Given the description of an element on the screen output the (x, y) to click on. 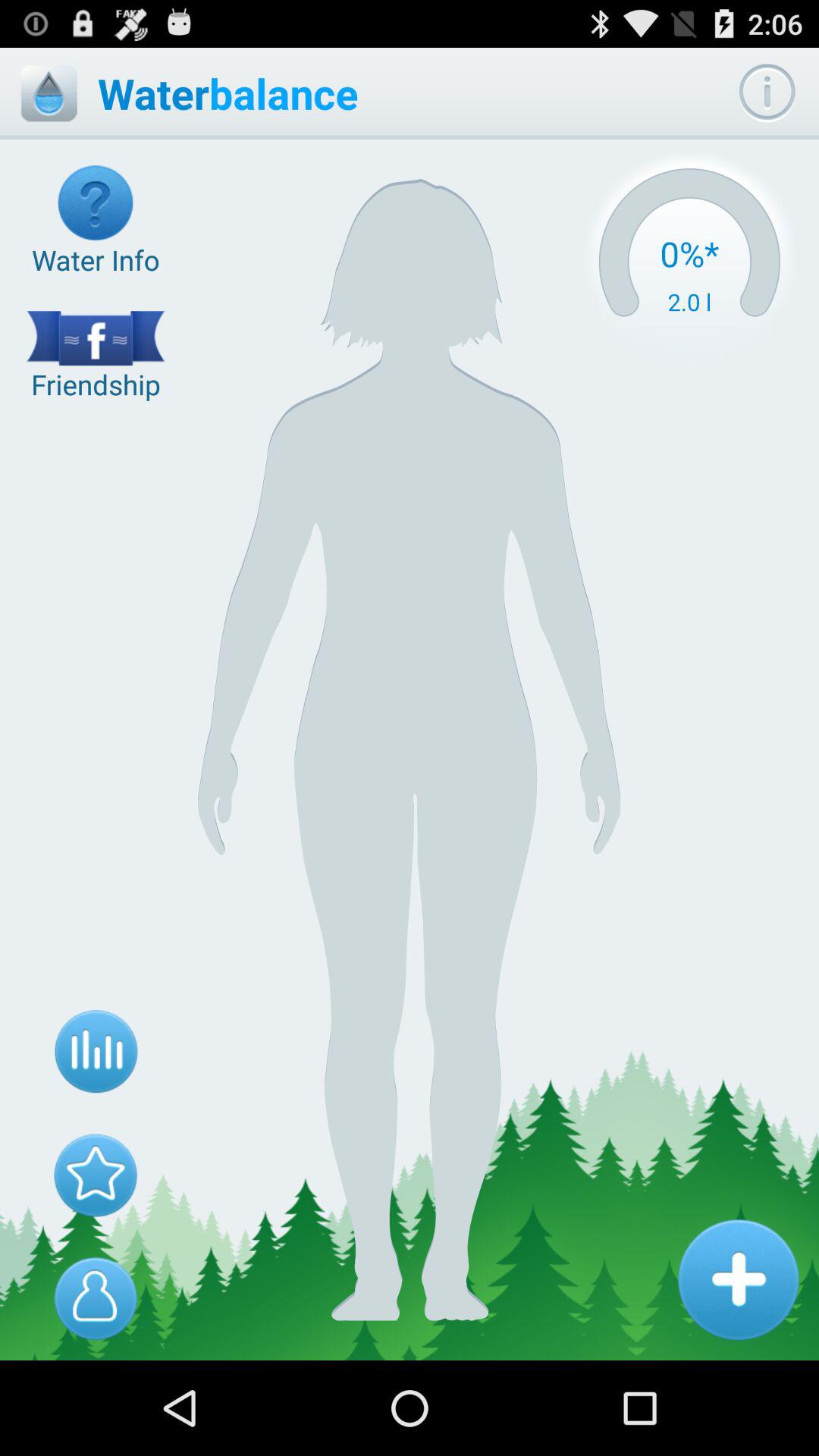
select the app to the right of the waterbalance icon (689, 261)
